Given the description of an element on the screen output the (x, y) to click on. 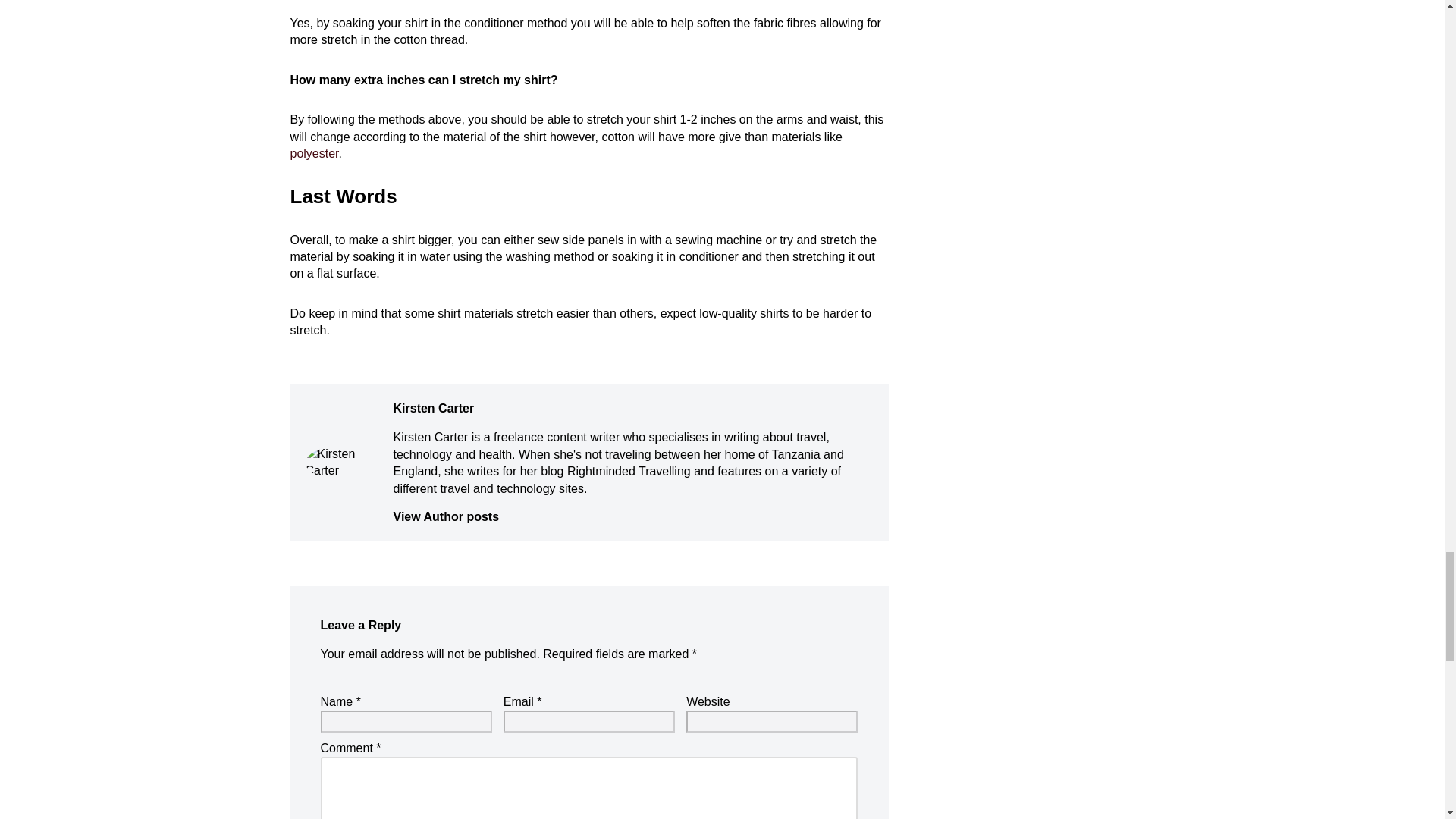
View Author posts (632, 516)
polyester (313, 153)
